Given the description of an element on the screen output the (x, y) to click on. 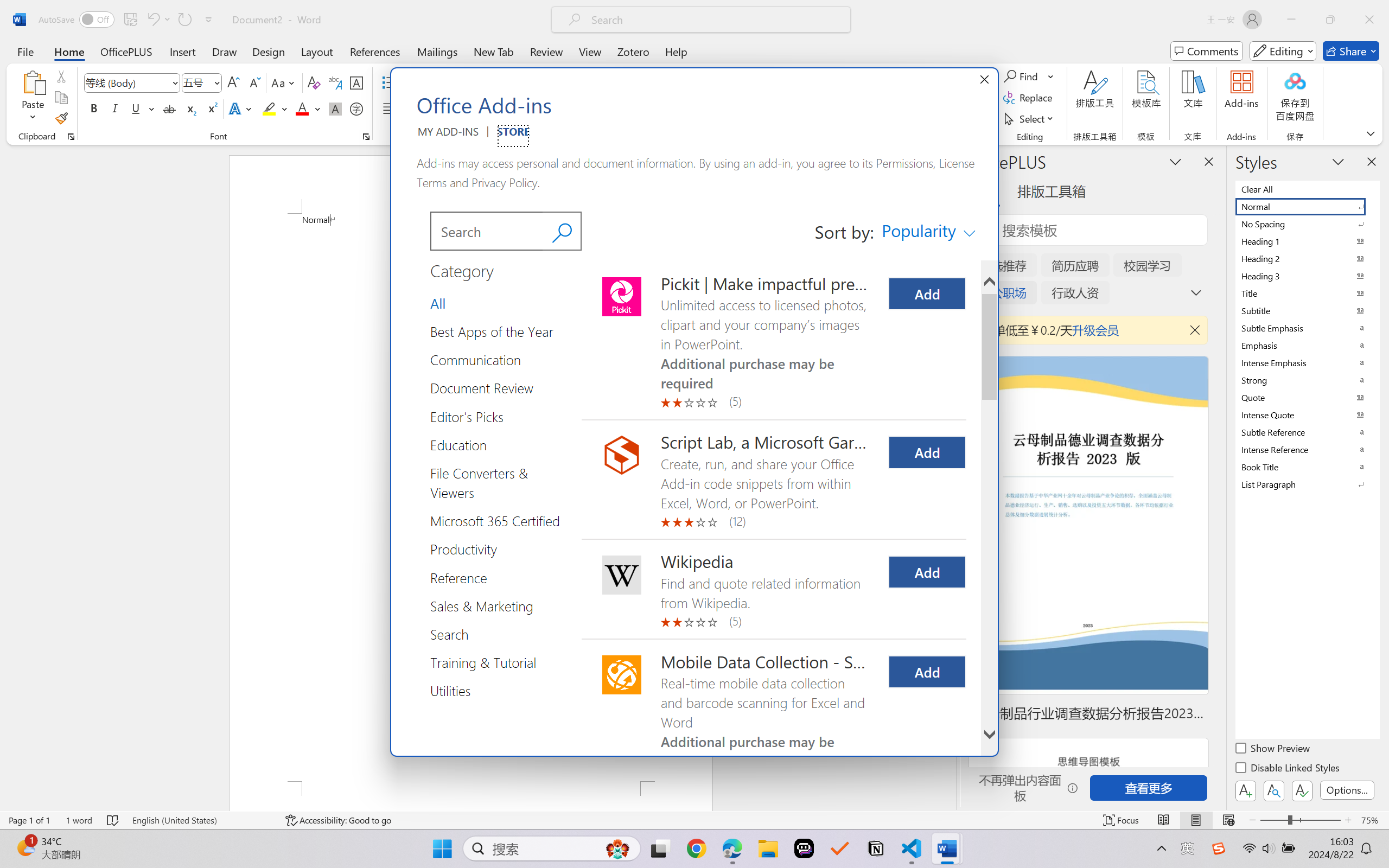
Script Lab, a Microsoft Garage project icon (621, 454)
Category Group Document Review 4 of 14 (485, 387)
Insert (182, 51)
New Tab (493, 51)
Italic (115, 108)
Accessibility Checker Accessibility: Good to go (338, 819)
Font Size (201, 82)
Category Group Utilities 14 of 14 (454, 690)
